Given the description of an element on the screen output the (x, y) to click on. 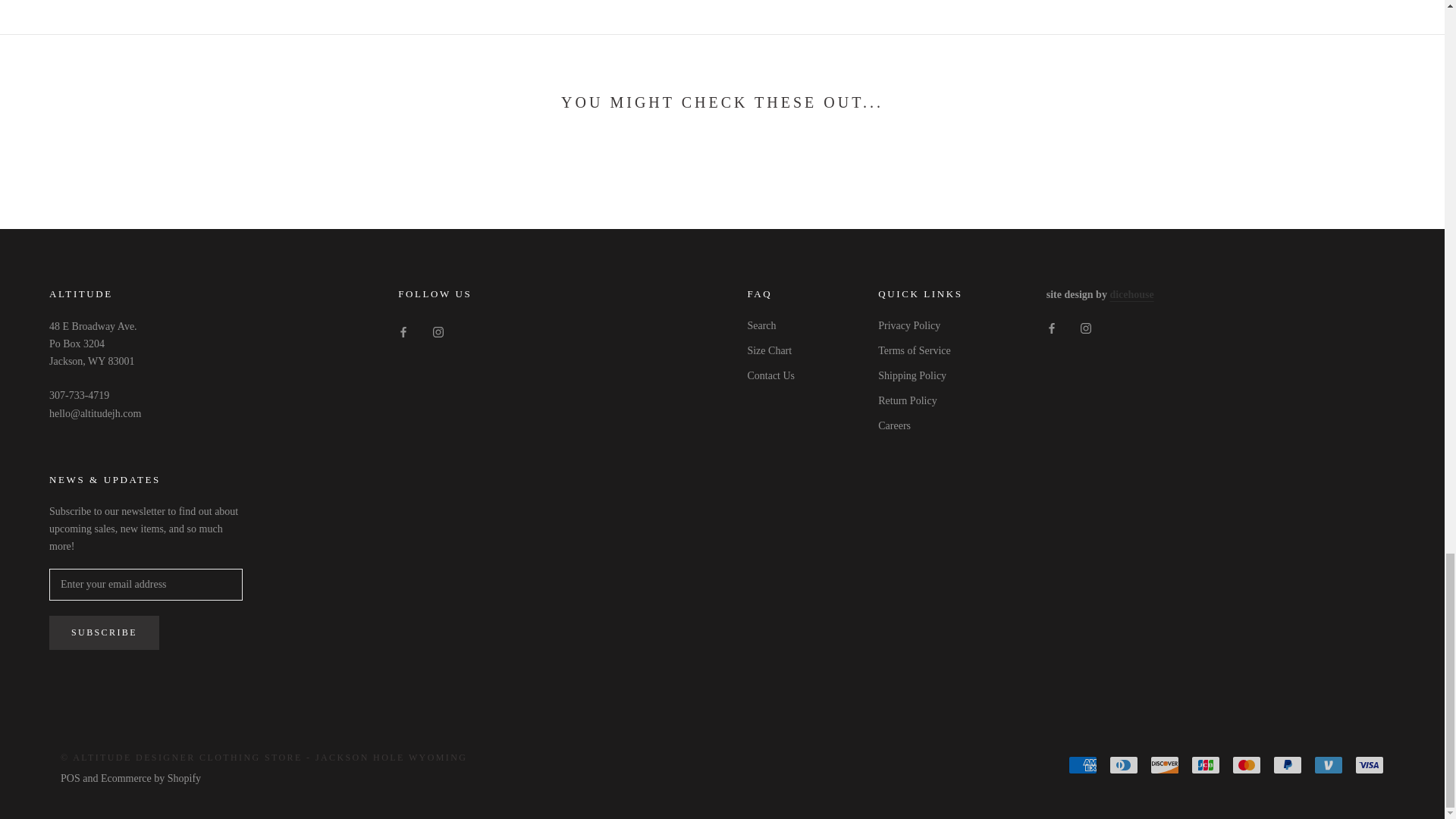
JCB (1205, 764)
Diners Club (1123, 764)
PayPal (1286, 764)
Mastercard (1245, 764)
Discover (1164, 764)
American Express (1082, 764)
